Given the description of an element on the screen output the (x, y) to click on. 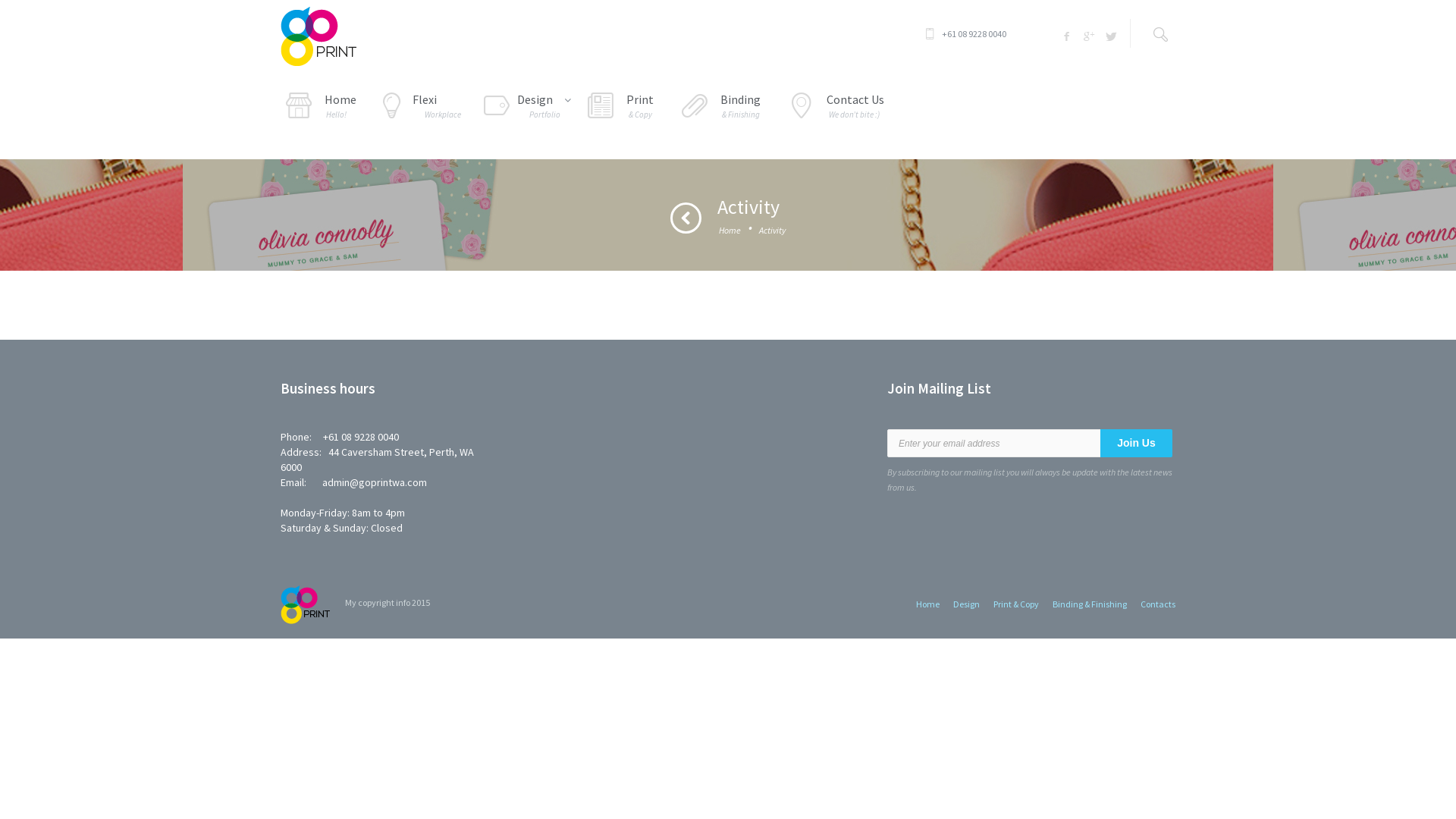
Google + Element type: hover (1087, 35)
Design
Portfolio Element type: text (521, 108)
Home Element type: text (927, 603)
Home Element type: text (729, 229)
Contacts Element type: text (1157, 603)
Print & Copy Element type: text (1015, 603)
  Element type: text (1148, 32)
Print
& Copy Element type: text (618, 108)
Design Element type: text (966, 603)
Binding & Finishing Element type: text (1089, 603)
Join Us Element type: text (1136, 443)
Facebook Element type: hover (1065, 35)
Home
Hello! Element type: text (318, 108)
Binding
& Finishing Element type: text (718, 108)
Twitter Element type: hover (1109, 35)
Flexi
Workplace Element type: text (419, 108)
